Given the description of an element on the screen output the (x, y) to click on. 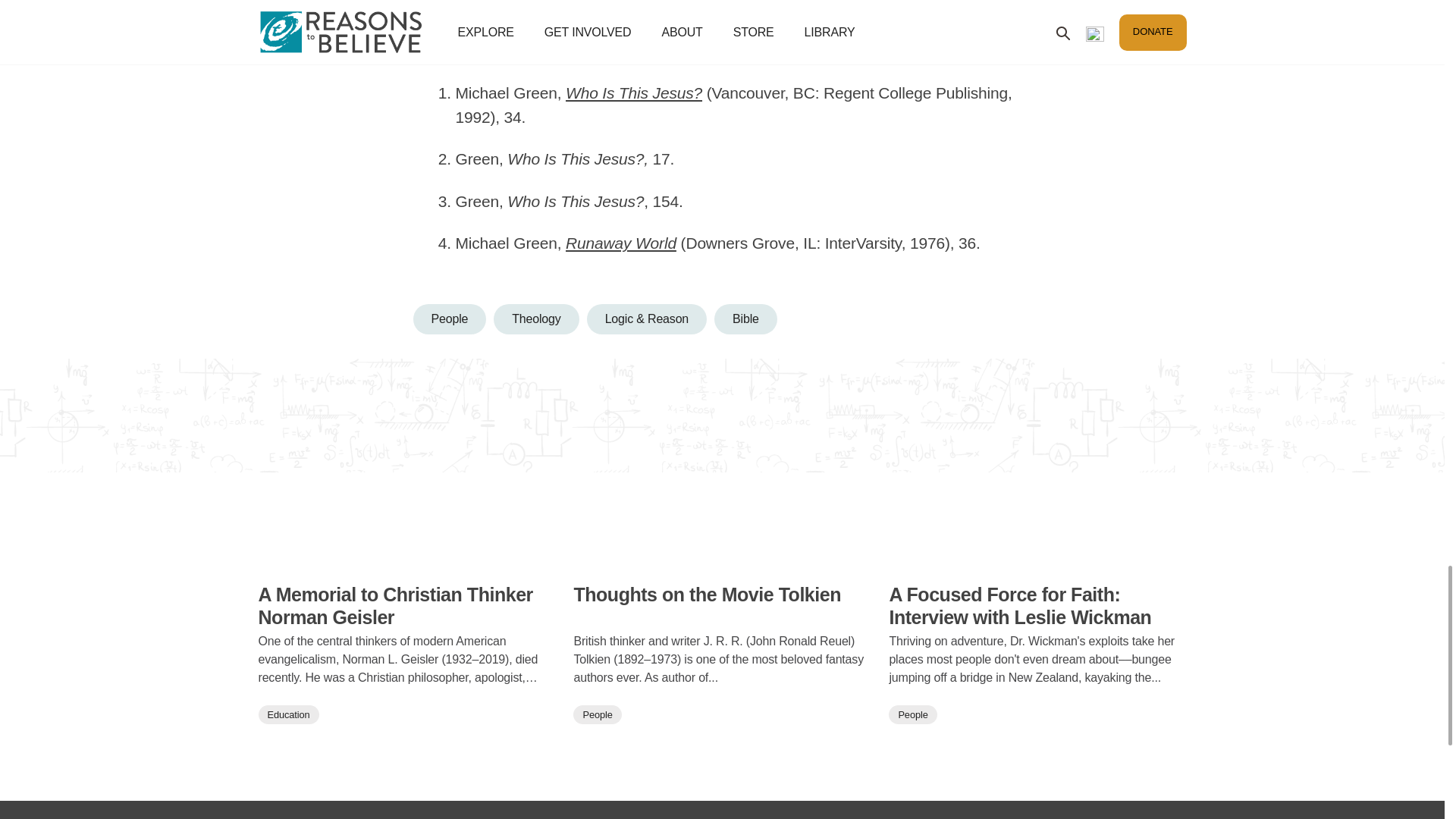
A Memorial to Christian Thinker Norman Geisler (405, 559)
A Memorial to Christian Thinker Norman Geisler (405, 605)
Thoughts on the Movie Tolkien (721, 605)
A Focused Force for Faith: Interview with Leslie Wickman (1037, 605)
Thoughts on the Movie Tolkien (721, 559)
A Focused Force for Faith: Interview with Leslie Wickman (1037, 559)
